Given the description of an element on the screen output the (x, y) to click on. 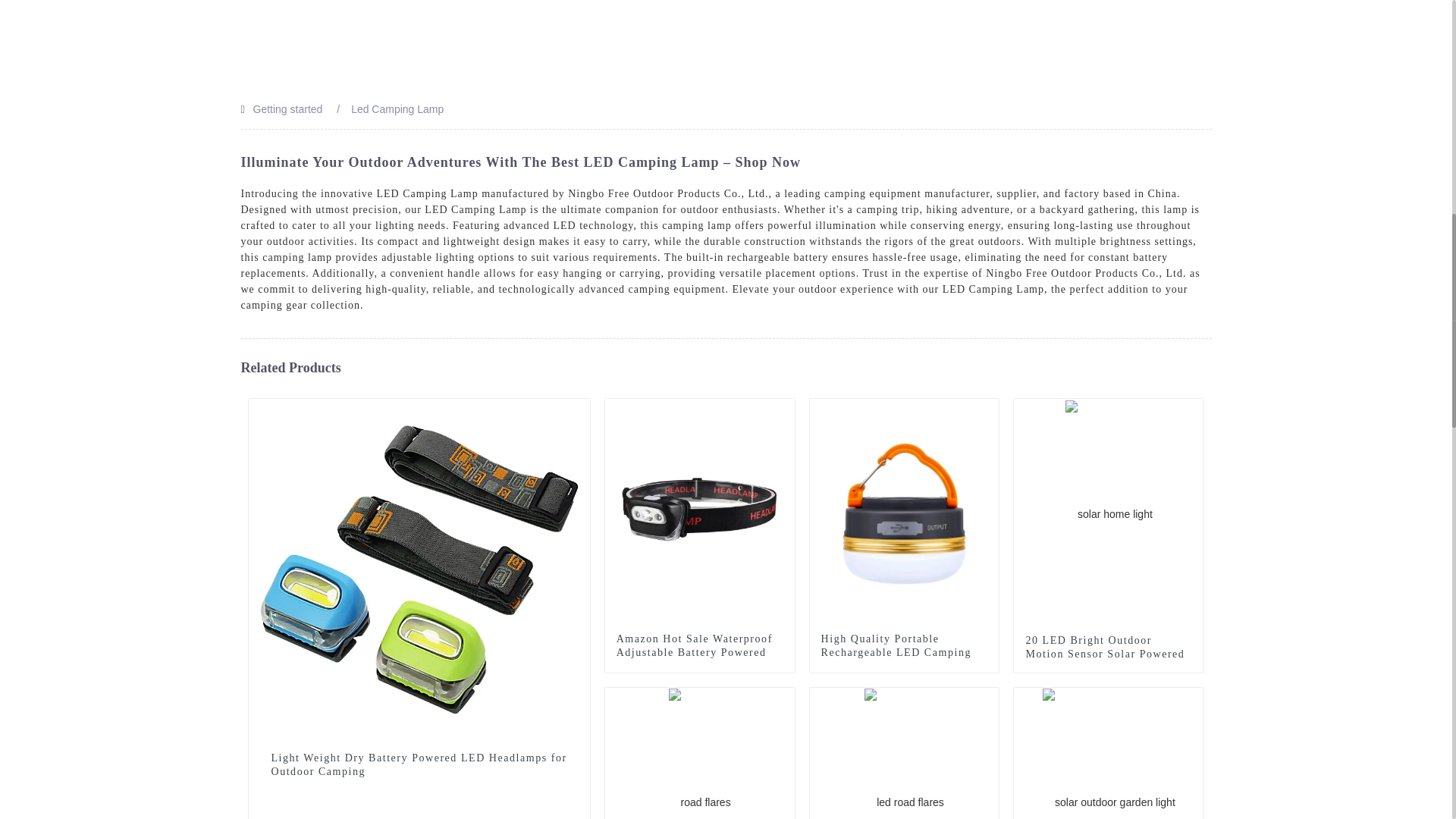
solar home light (1192, 409)
battery headlamps (782, 409)
road flares (782, 698)
led road flares (986, 698)
rechargeable headlight (578, 409)
rechargeable camping light (986, 409)
